Given the description of an element on the screen output the (x, y) to click on. 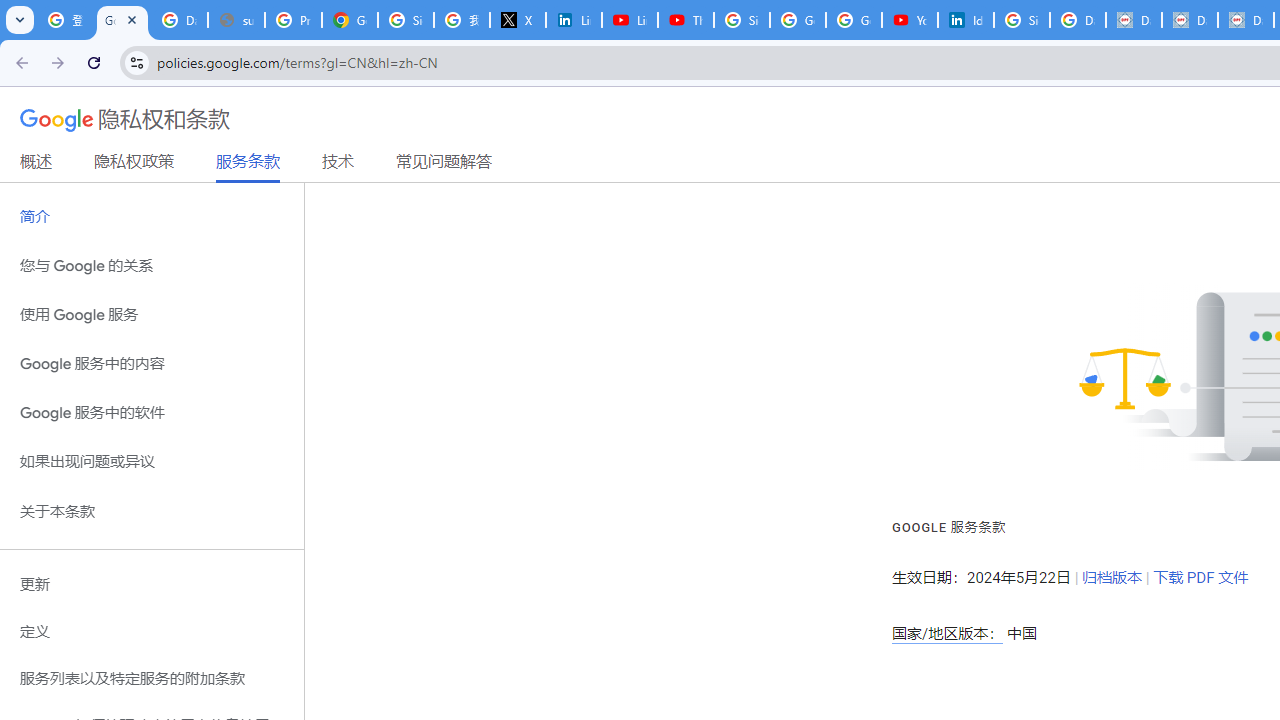
Privacy Help Center - Policies Help (293, 20)
